Given the description of an element on the screen output the (x, y) to click on. 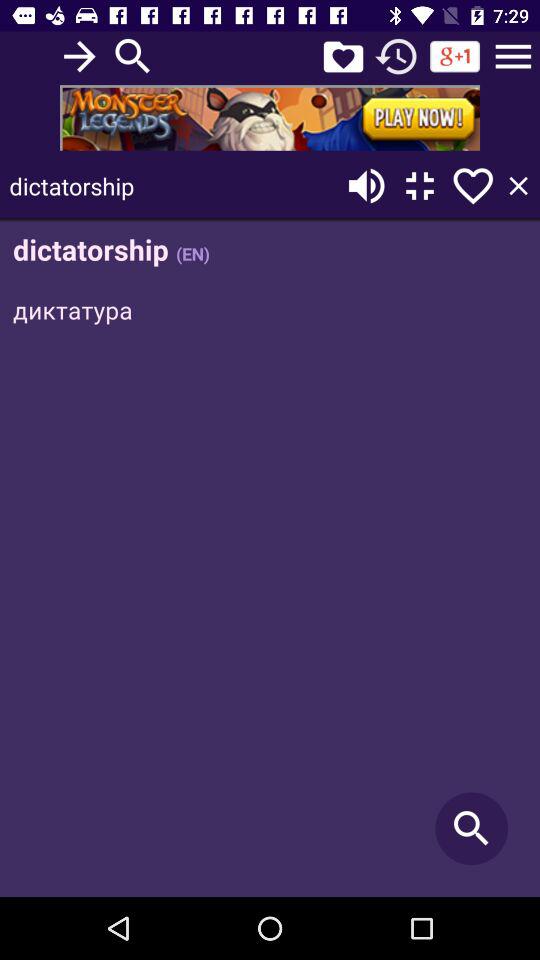
go to clock (396, 56)
